Given the description of an element on the screen output the (x, y) to click on. 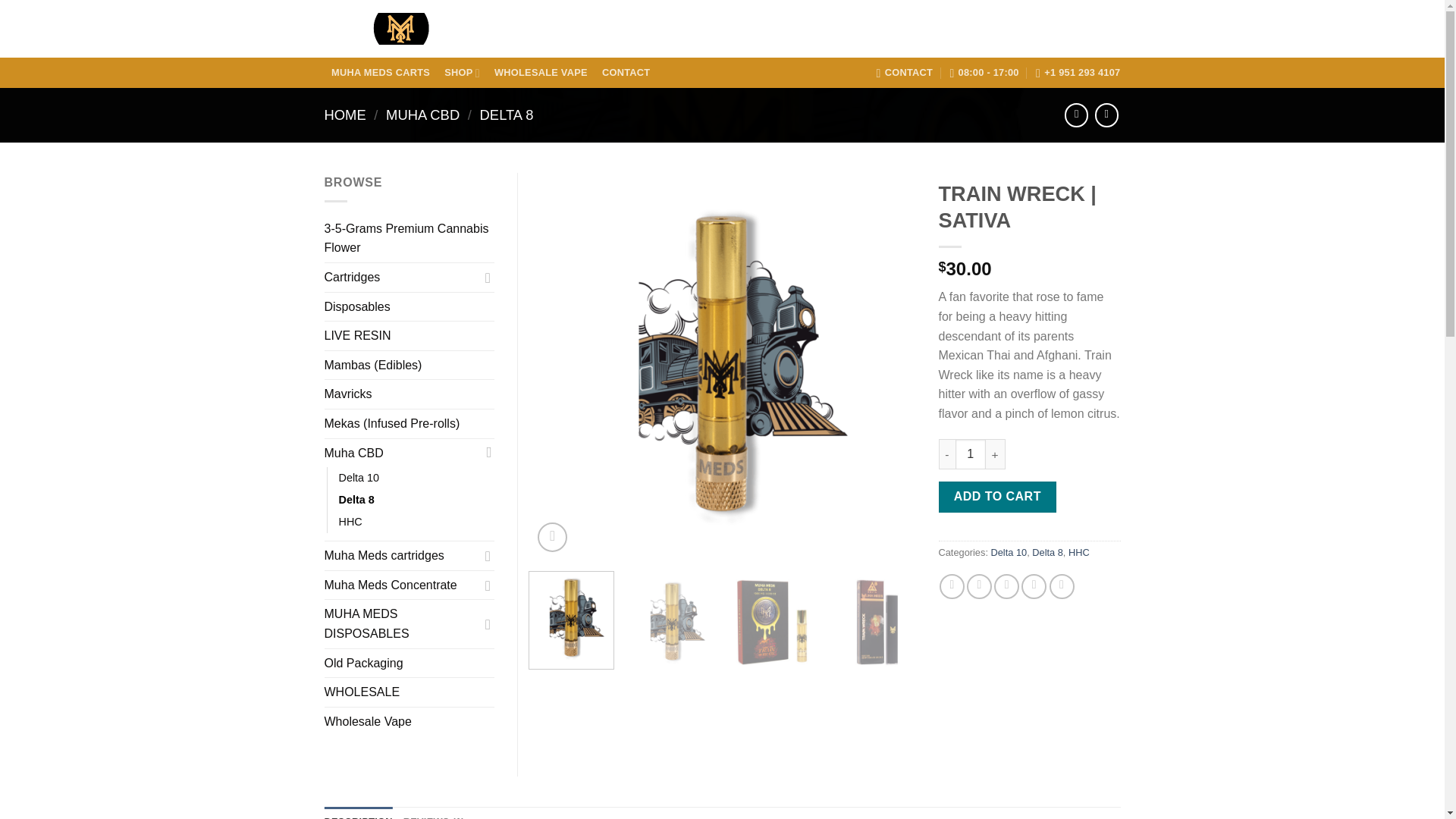
Zoom (552, 537)
Qty (970, 453)
Search (1000, 28)
08:00 - 17:00  (983, 72)
MUHA CBD (422, 114)
08:00 - 17:00 (983, 72)
1 (970, 453)
HOME (345, 114)
WHOLESALE VAPE (540, 72)
DELTA 8 (507, 114)
CONTACT (626, 72)
SHOP (462, 72)
MUHAMEDS - MUHA MEDS CARTS ONLINE STORE (400, 29)
MUHA MEDS CARTS (381, 72)
CONTACT (904, 72)
